Given the description of an element on the screen output the (x, y) to click on. 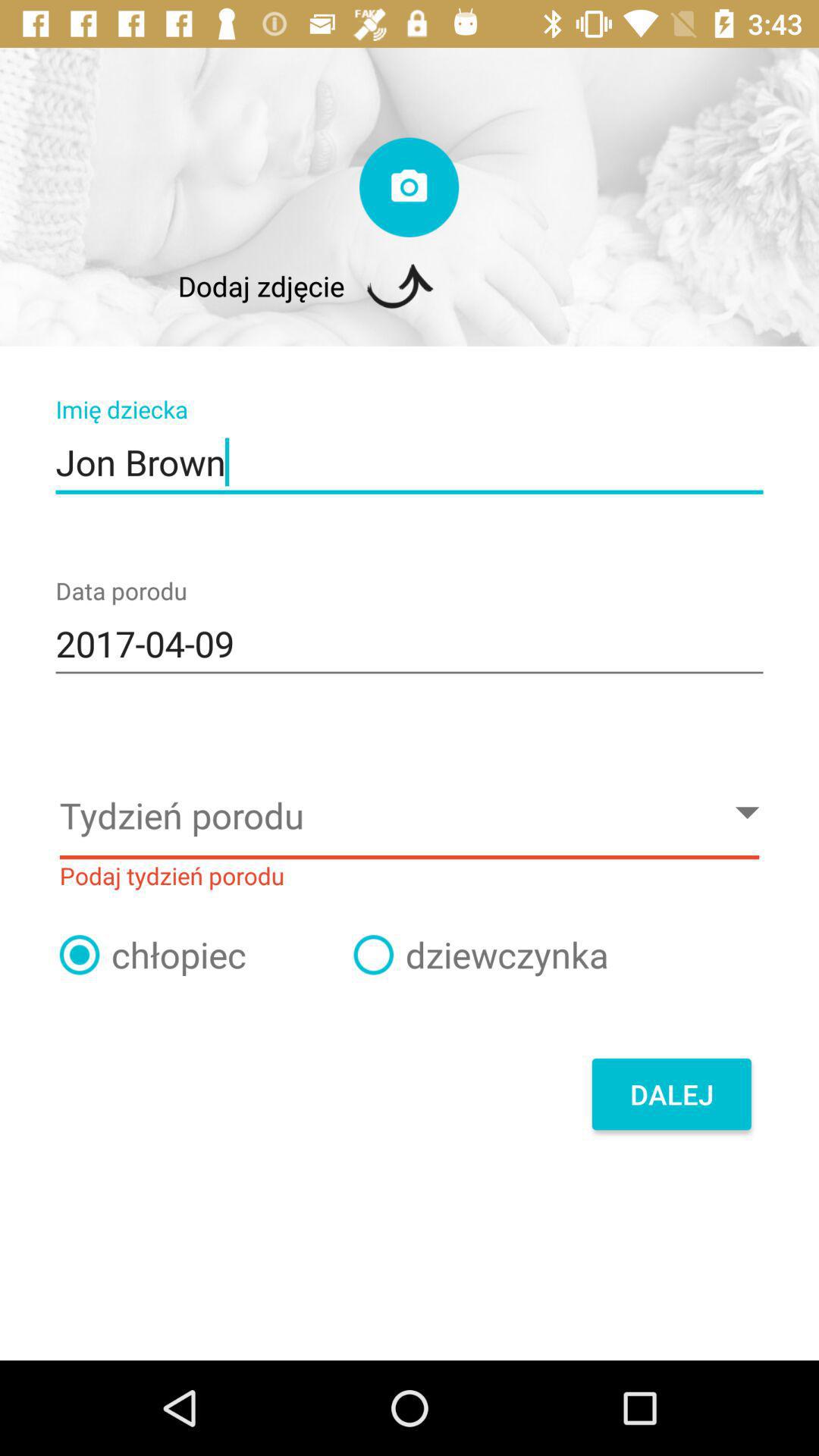
add photo (408, 187)
